Given the description of an element on the screen output the (x, y) to click on. 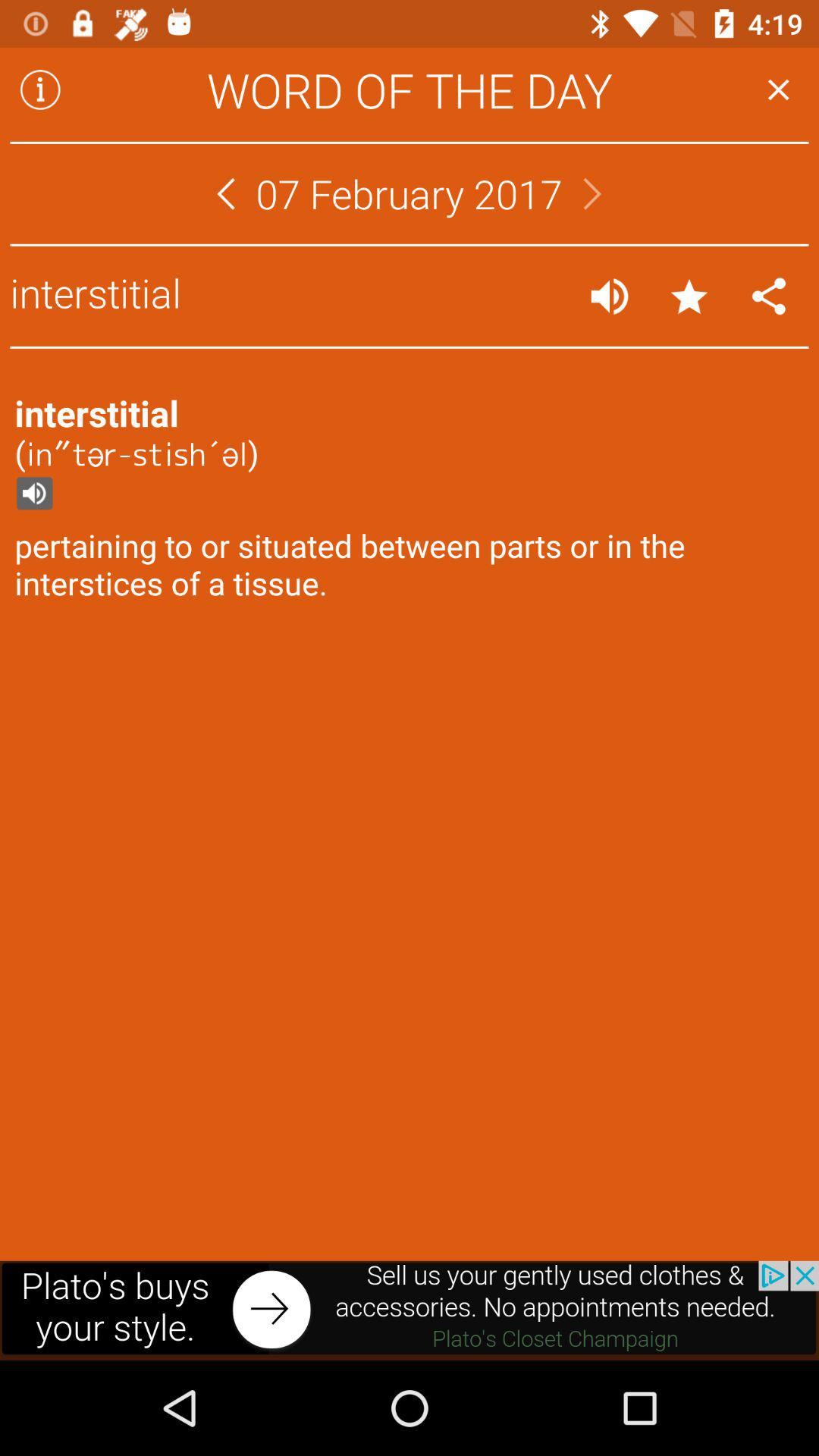
details book (40, 89)
